Given the description of an element on the screen output the (x, y) to click on. 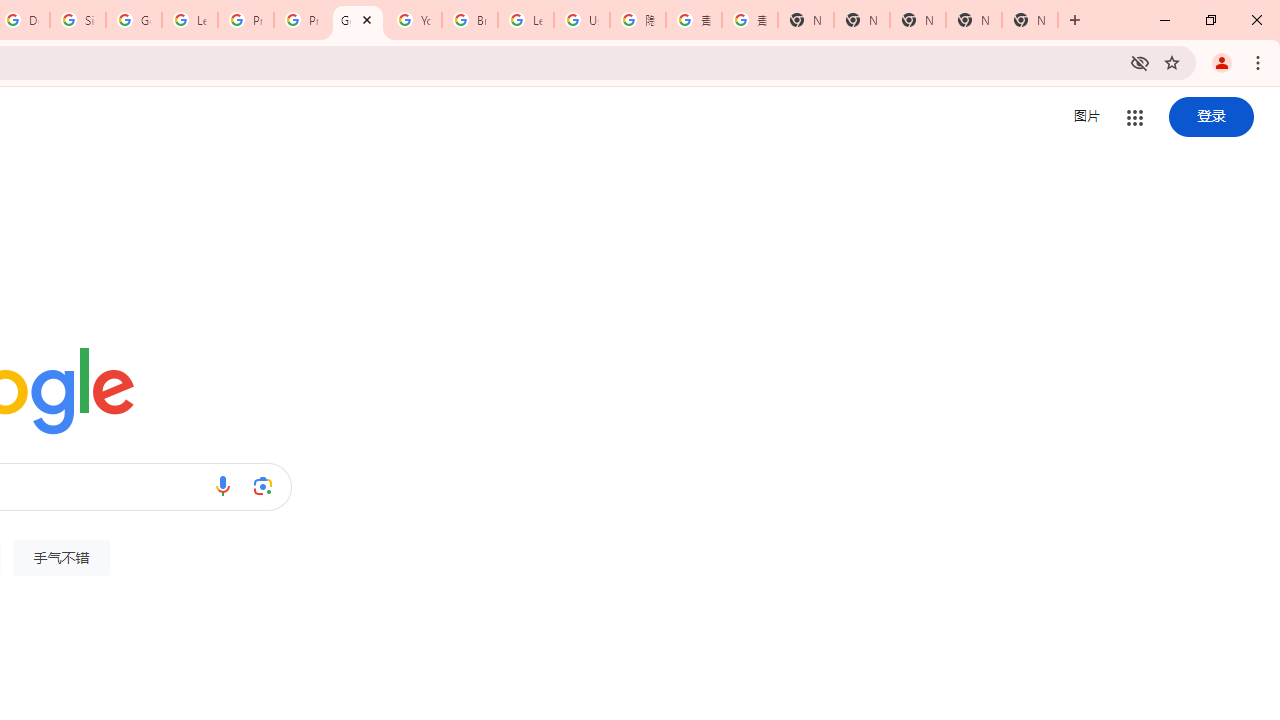
New Tab (1030, 20)
Privacy Help Center - Policies Help (301, 20)
Sign in - Google Accounts (77, 20)
Google (358, 20)
